Given the description of an element on the screen output the (x, y) to click on. 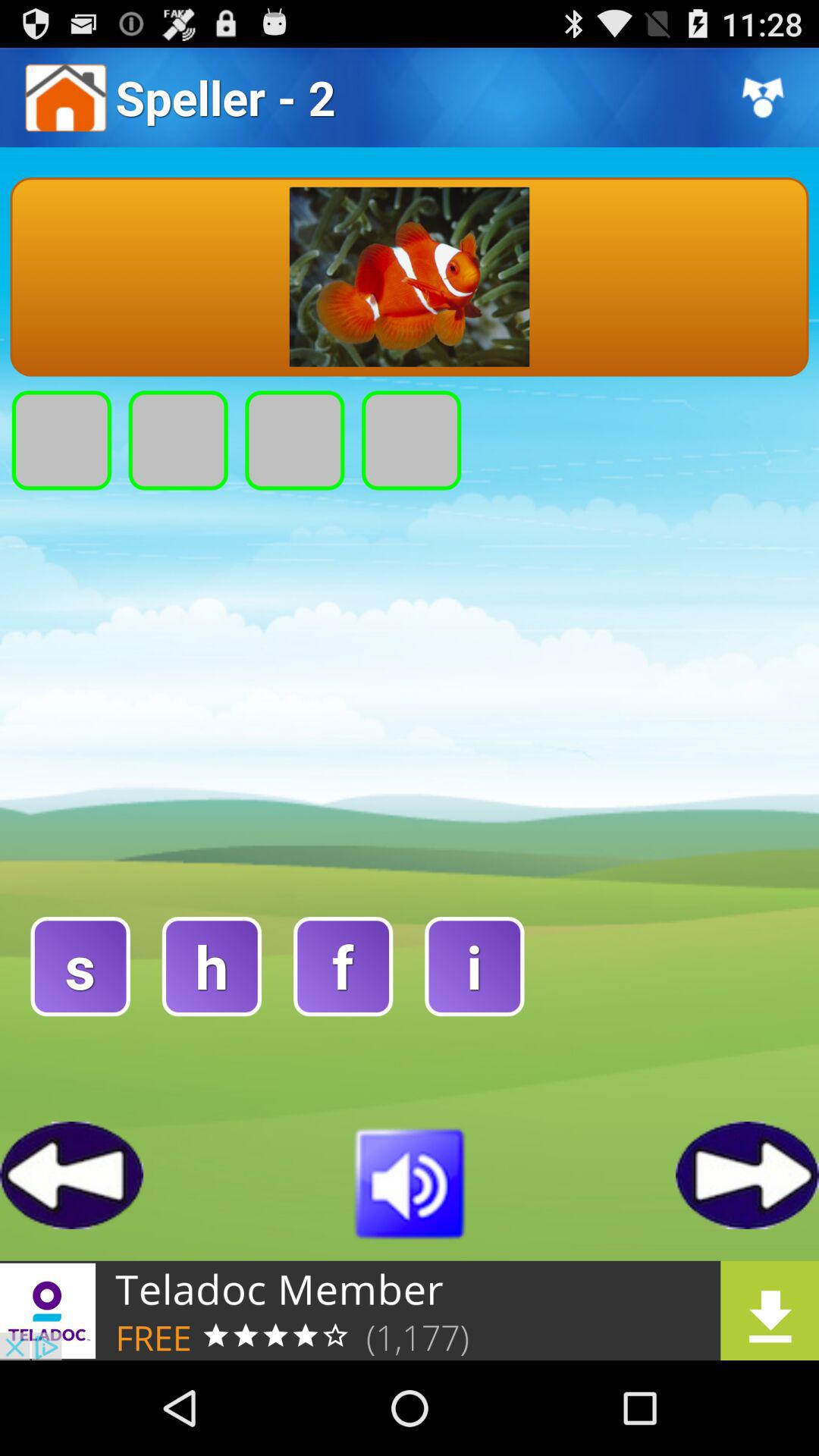
go to next page (747, 1175)
